Given the description of an element on the screen output the (x, y) to click on. 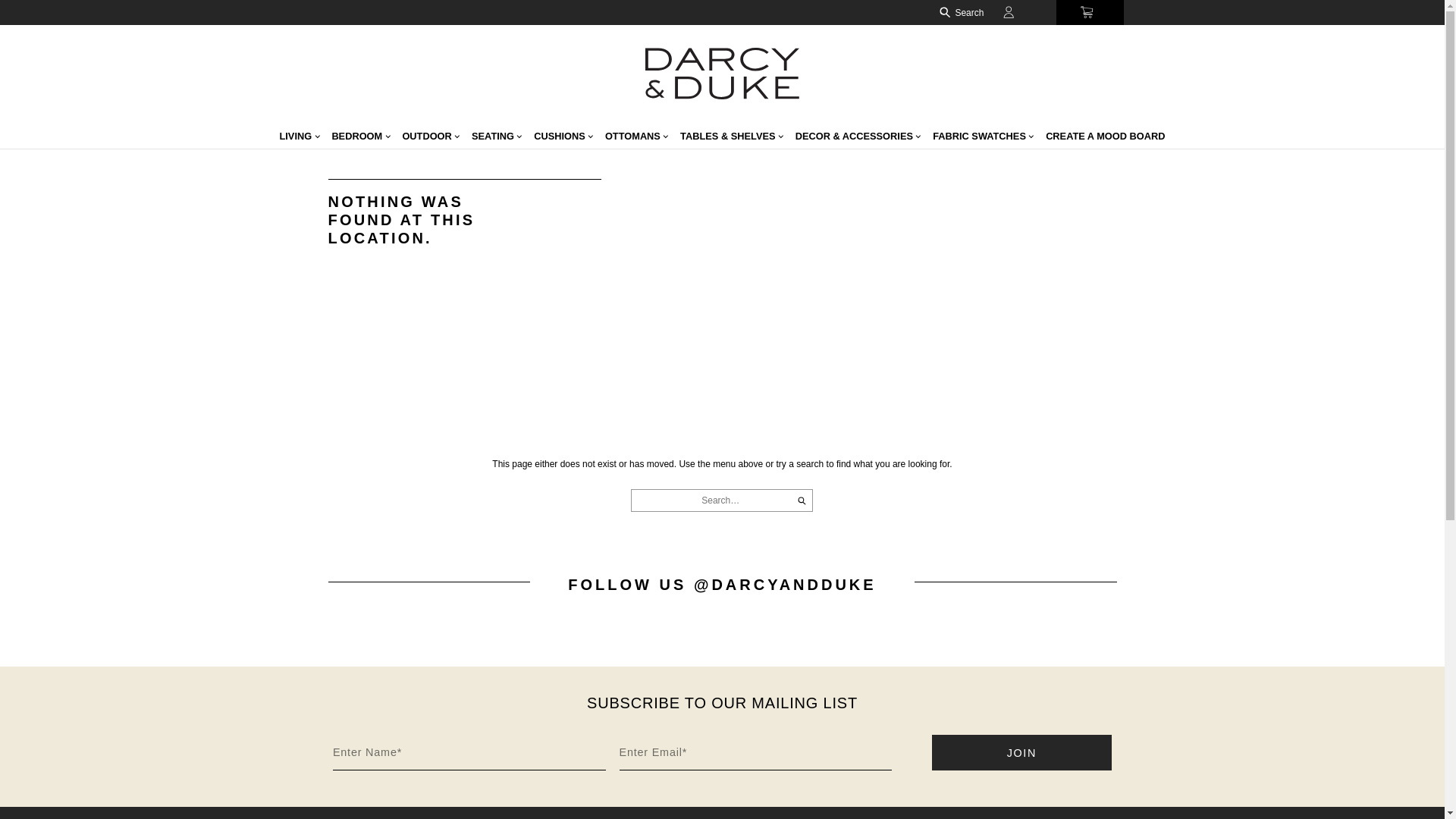
BEDROOM (451, 171)
Search (1200, 15)
SEATING (621, 171)
Search (1002, 625)
Log In (1275, 15)
OUTDOOR (539, 171)
CUSHIONS (704, 171)
LIVING (375, 171)
Log In (1275, 15)
